Given the description of an element on the screen output the (x, y) to click on. 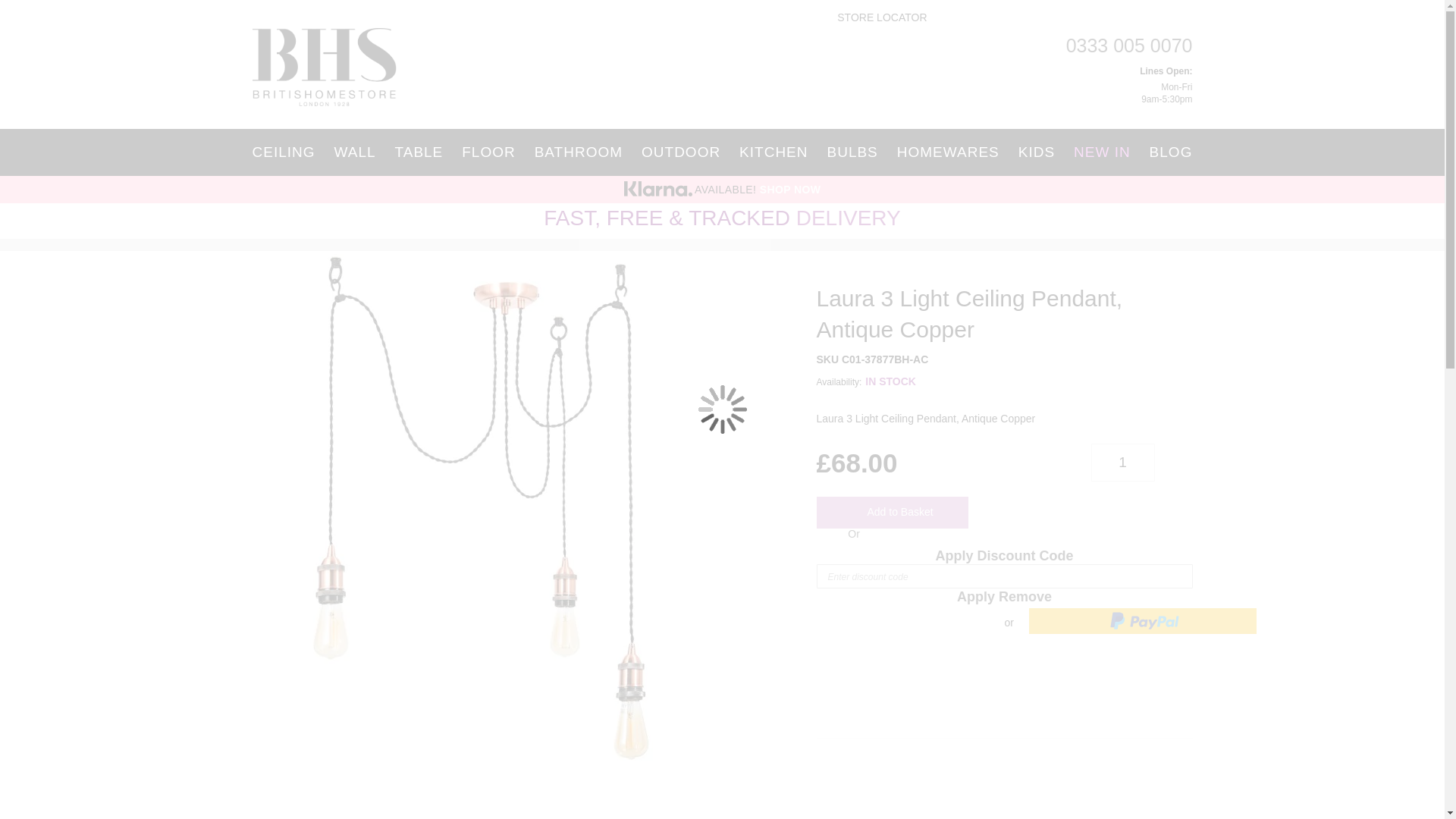
Availability (1003, 381)
FLOOR (488, 152)
BHS - British Home Store (323, 66)
Add to Basket (891, 512)
BATHROOM (578, 152)
STORE LOCATOR (873, 17)
CEILING (287, 152)
Qty (1122, 462)
Checkout with PayPal (1142, 620)
WALL (354, 152)
